Given the description of an element on the screen output the (x, y) to click on. 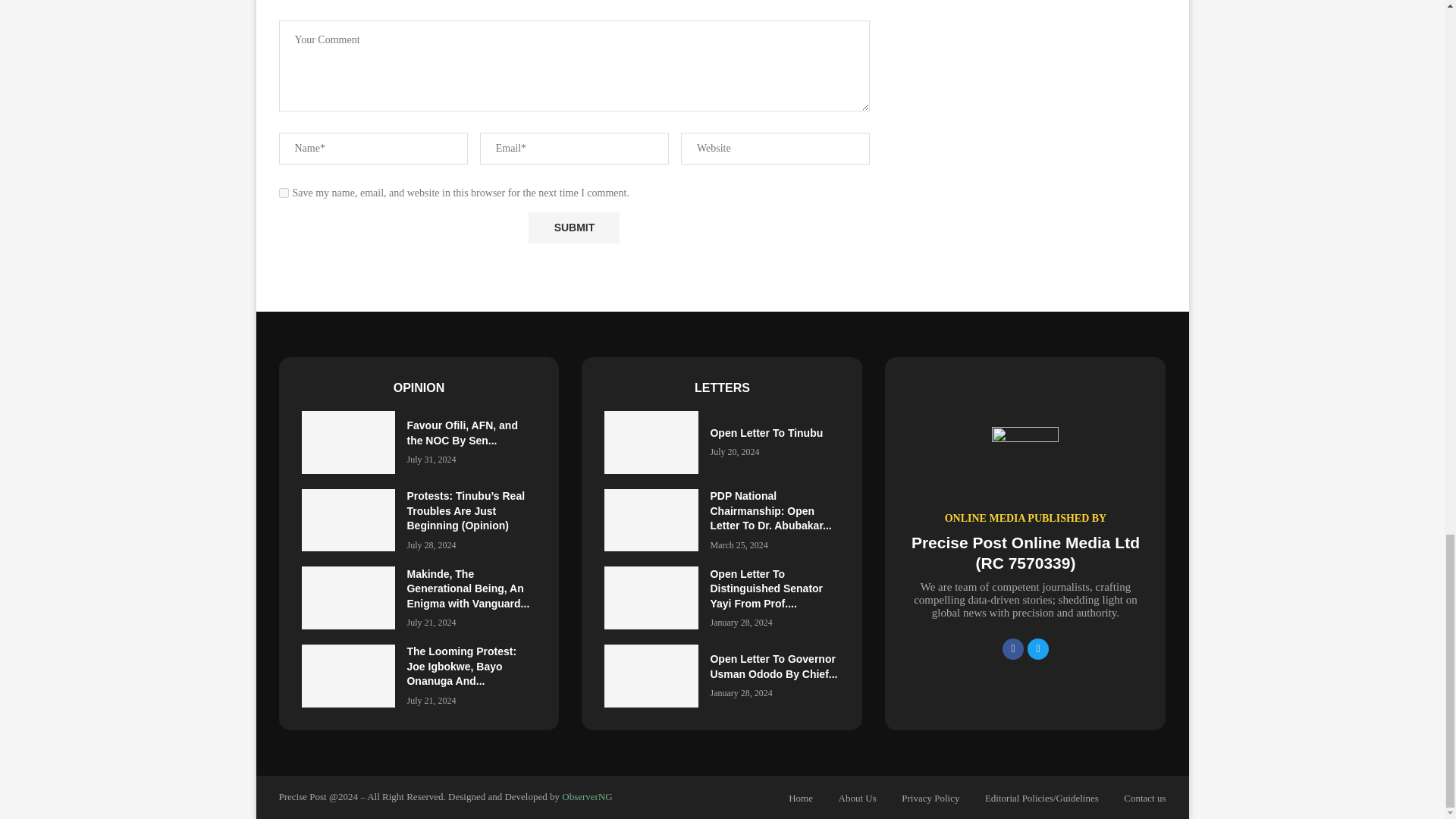
Submit (574, 227)
yes (283, 193)
